Given the description of an element on the screen output the (x, y) to click on. 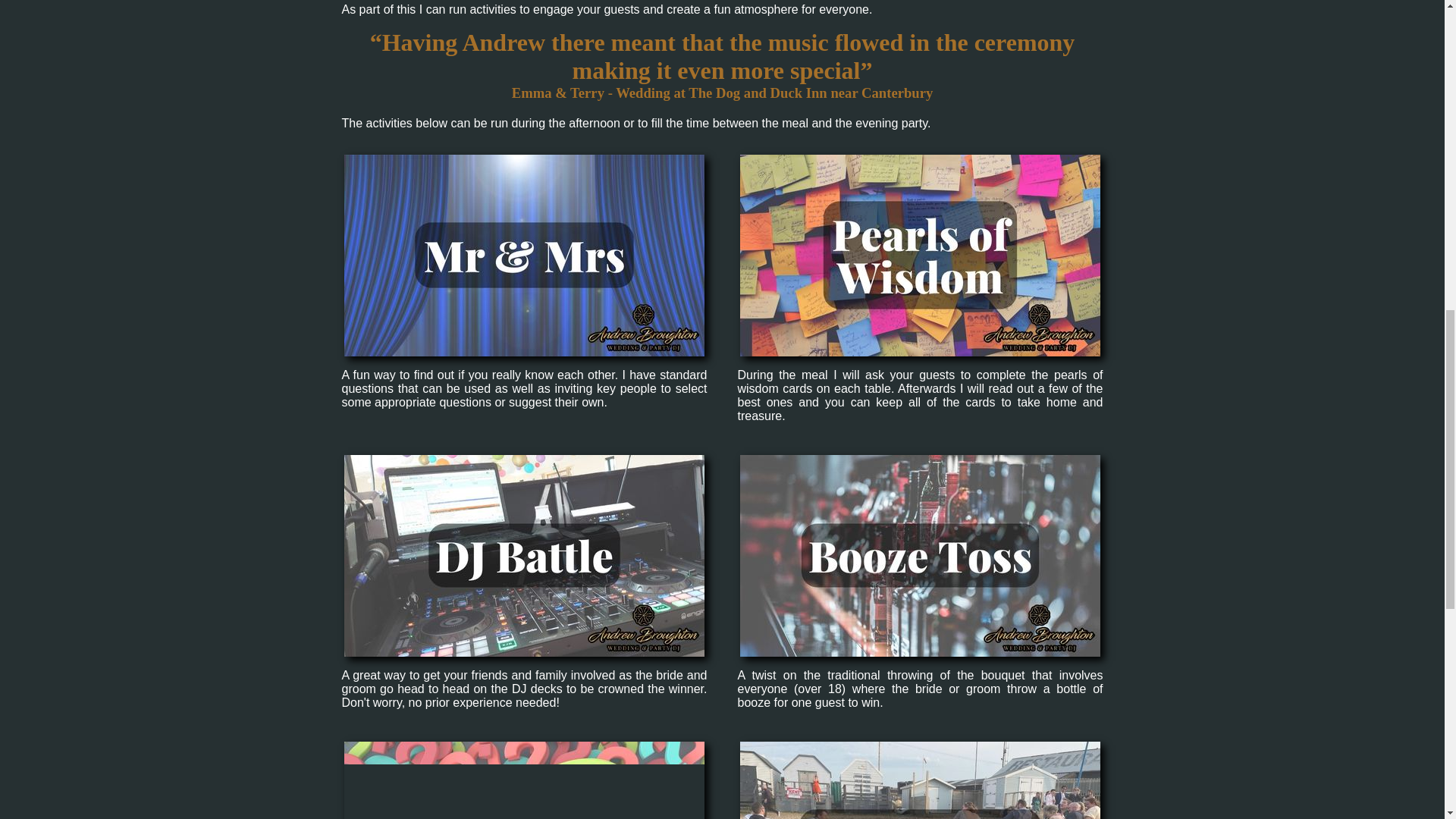
A fun game to see how much you really know about each other (523, 255)
Get some great pearls of wisdom from your guests (919, 255)
Tug Of War (919, 780)
Go head-to-head in an epic DJ battle (523, 555)
A fun quiz that can be run during the wedding breakfast (523, 780)
